Given the description of an element on the screen output the (x, y) to click on. 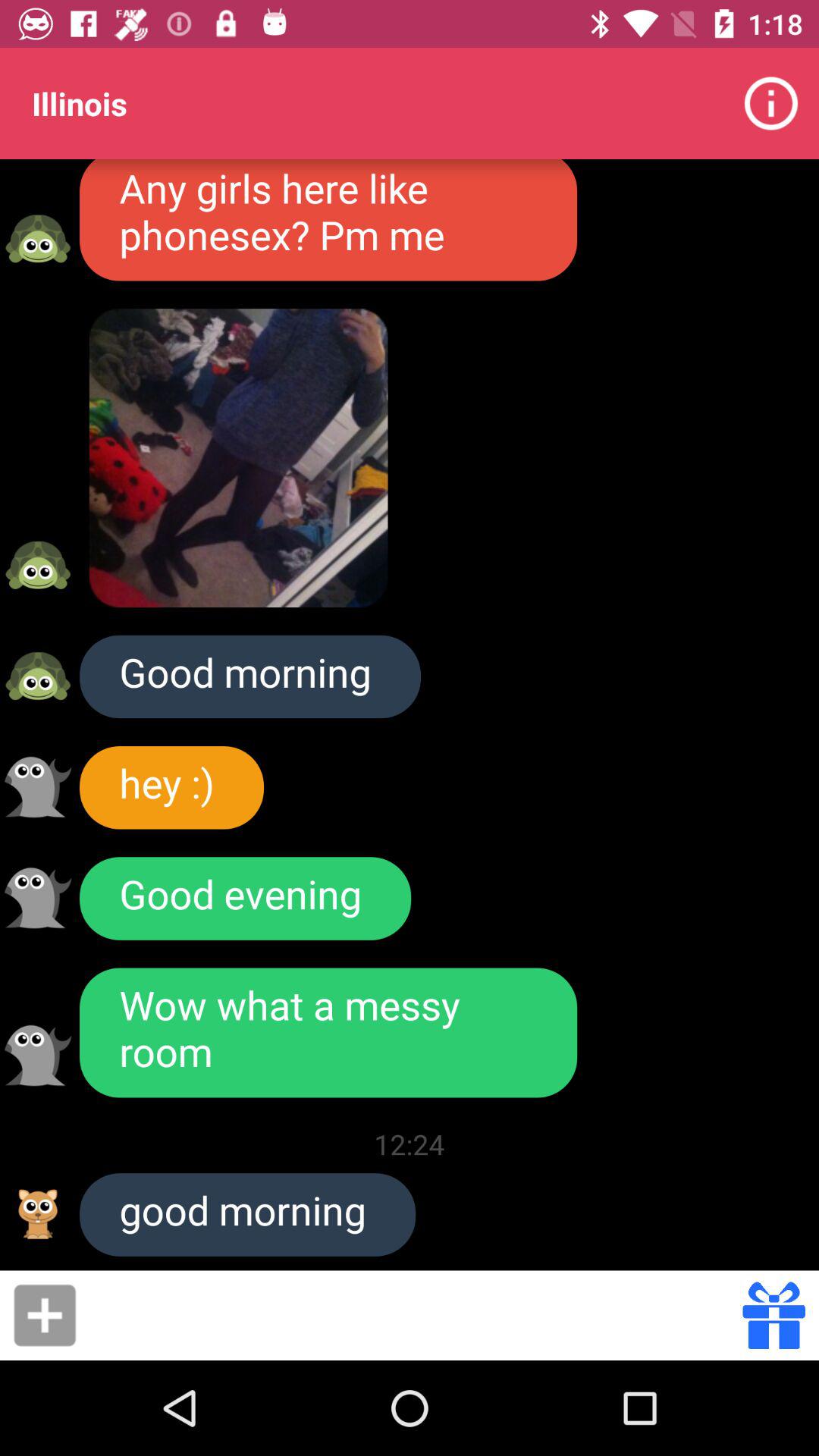
wow emoji (38, 1055)
